Given the description of an element on the screen output the (x, y) to click on. 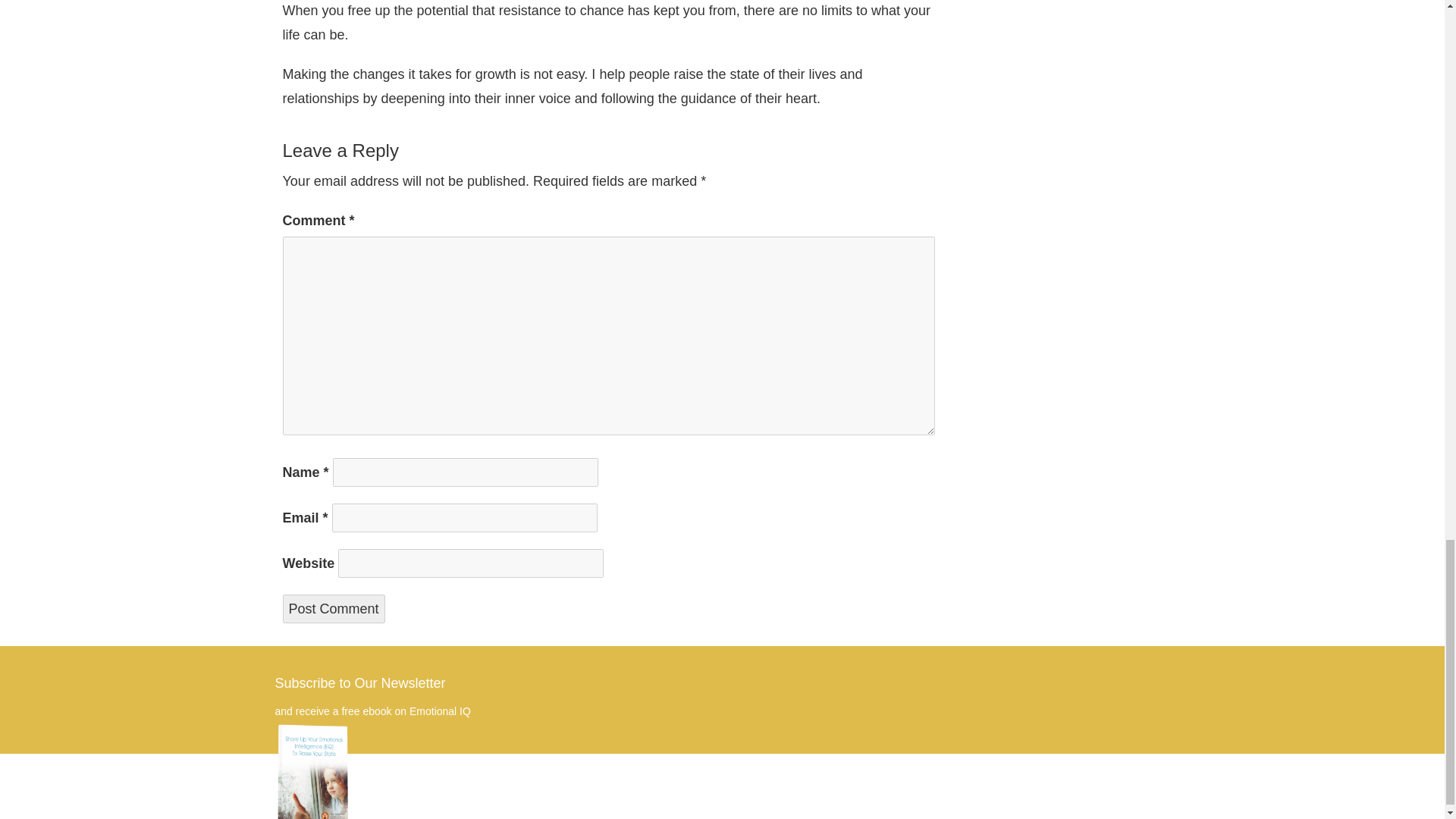
Post Comment (333, 608)
Post Comment (333, 608)
